Given the description of an element on the screen output the (x, y) to click on. 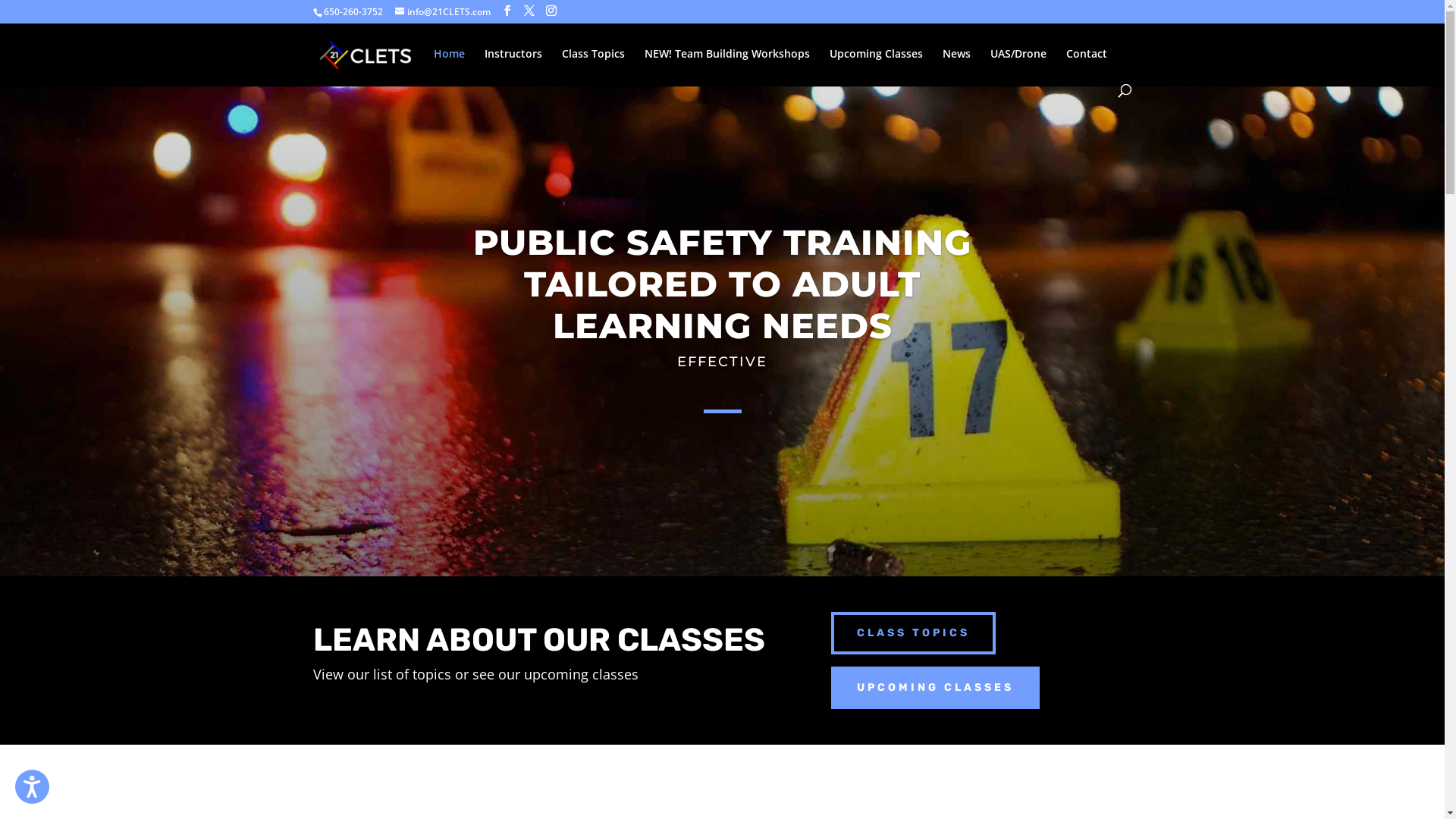
Instructors Element type: text (512, 66)
UPCOMING CLASSES Element type: text (935, 687)
CLASS TOPICS Element type: text (913, 632)
UAS/Drone Element type: text (1018, 66)
NEW! Team Building Workshops Element type: text (726, 66)
Class Topics Element type: text (592, 66)
Home Element type: text (448, 66)
News Element type: text (955, 66)
Contact Element type: text (1086, 66)
Upcoming Classes Element type: text (875, 66)
info@21CLETS.com Element type: text (441, 11)
